Given the description of an element on the screen output the (x, y) to click on. 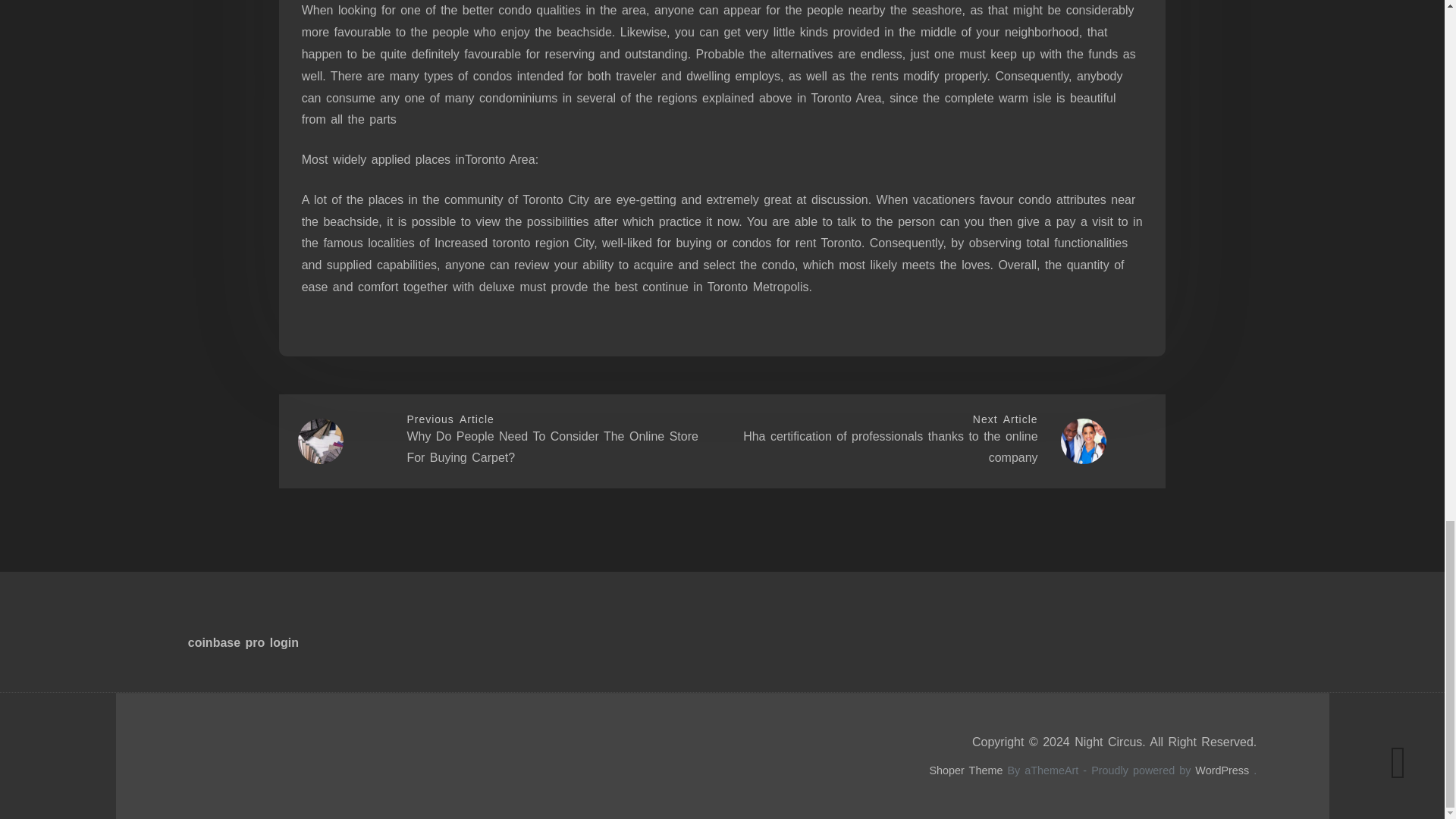
coinbase pro login (242, 642)
Shoper Theme (965, 770)
WordPress (1222, 770)
